Given the description of an element on the screen output the (x, y) to click on. 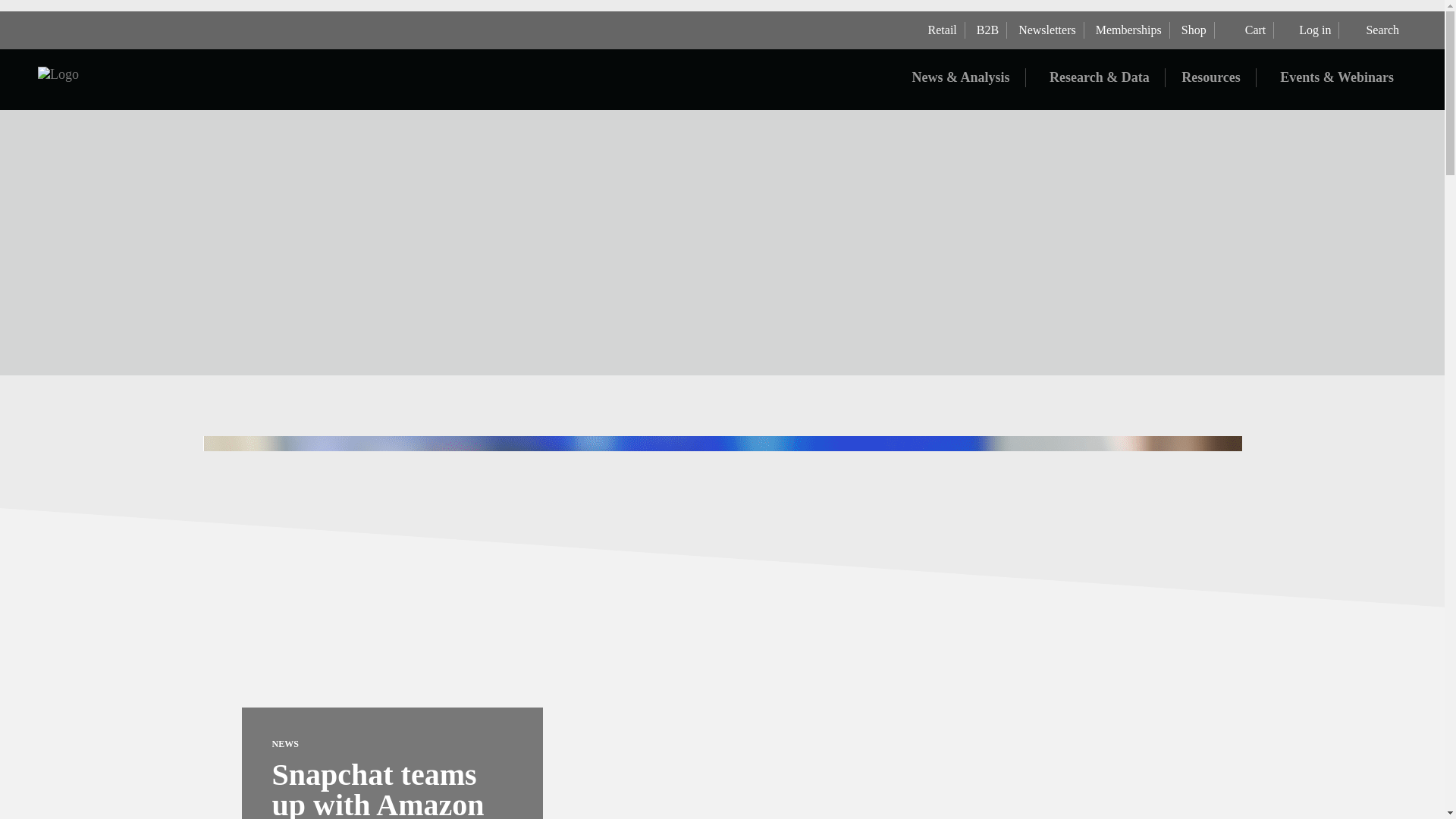
Newsletters (1044, 30)
Memberships (1126, 30)
Retail (940, 30)
Shop (1192, 30)
Search (1372, 30)
Cart (1244, 30)
Log in (1305, 30)
B2B (985, 30)
